Given the description of an element on the screen output the (x, y) to click on. 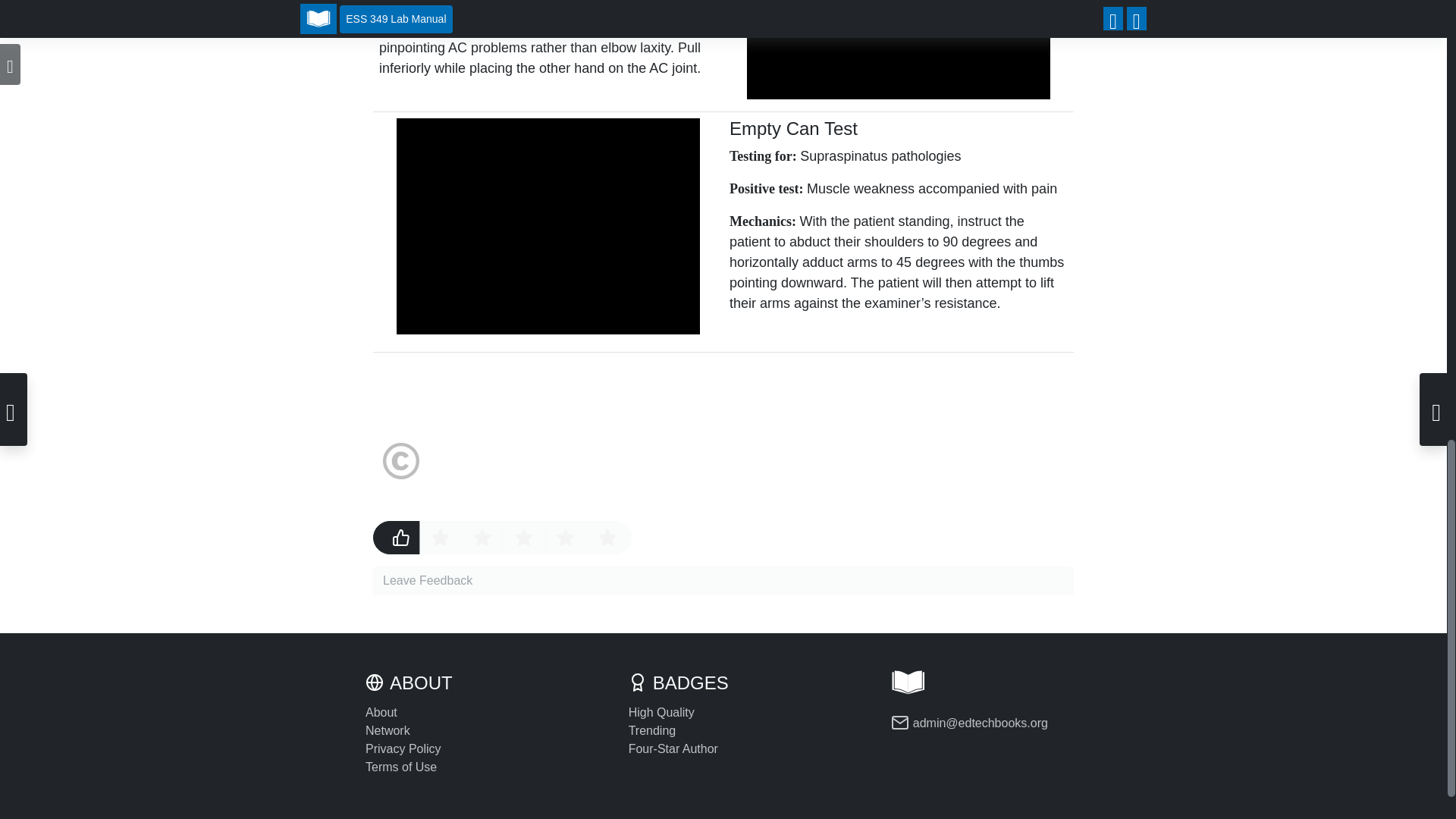
Empty Can Test - Supraspinatus Pathologies - Shoulder (548, 225)
